Given the description of an element on the screen output the (x, y) to click on. 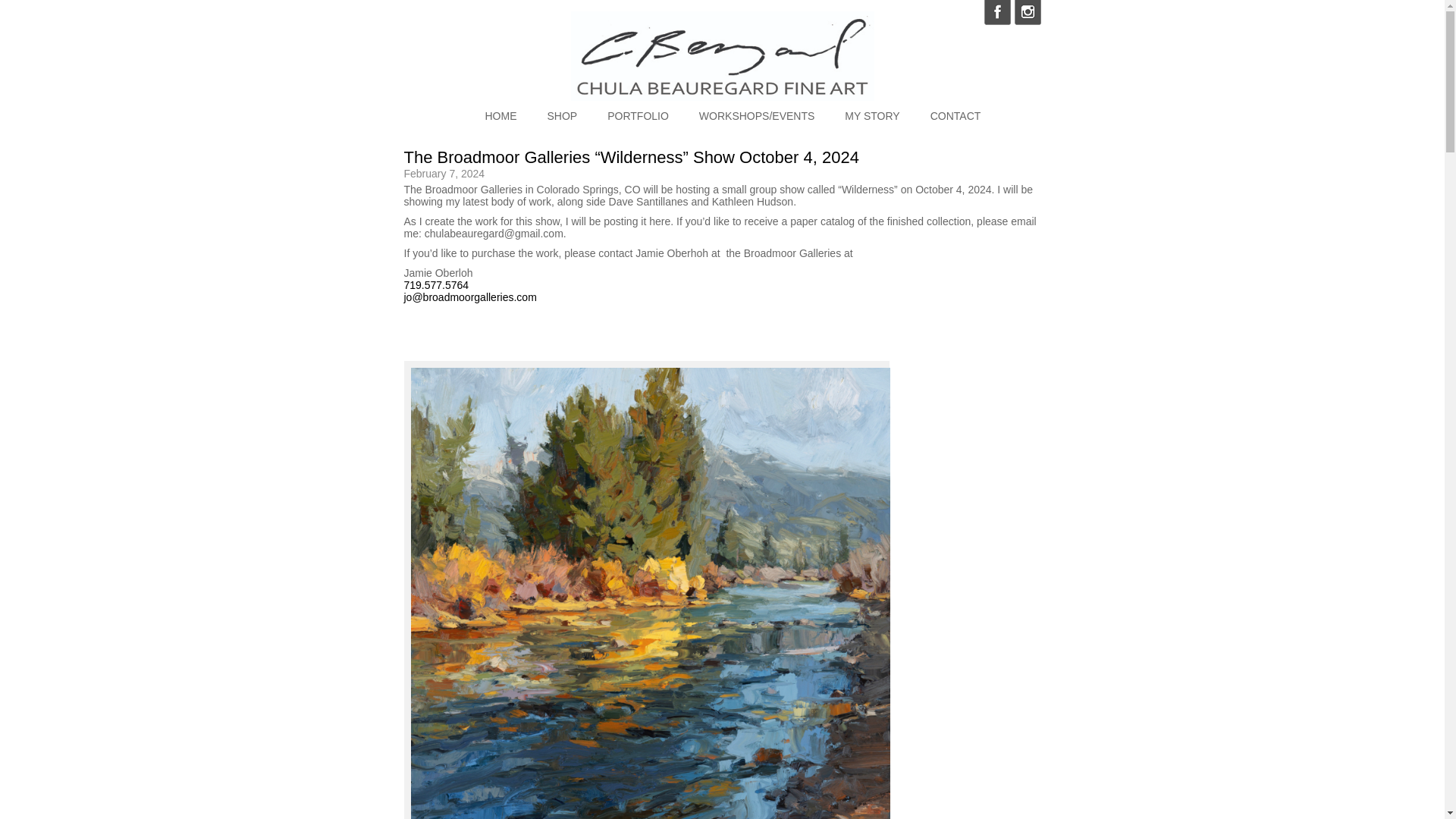
PORTFOLIO (637, 115)
SHOP (562, 115)
719.577.5764 (435, 285)
MY STORY (871, 115)
HOME (500, 115)
CONTACT (955, 115)
